Given the description of an element on the screen output the (x, y) to click on. 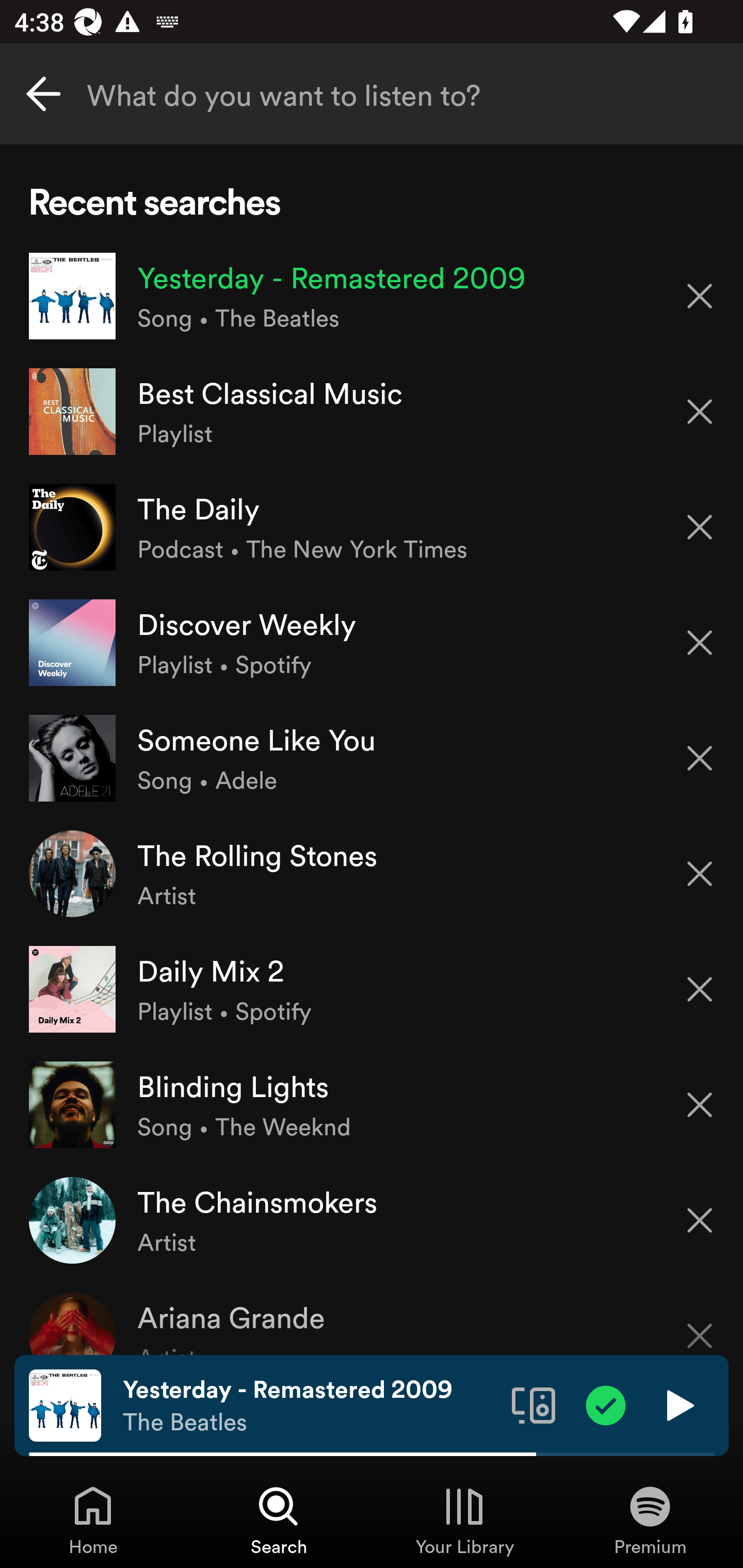
What do you want to listen to? (371, 93)
Cancel (43, 93)
Remove (699, 295)
Best Classical Music Playlist Remove (371, 411)
Remove (699, 411)
The Daily Podcast • The New York Times Remove (371, 526)
Remove (699, 527)
Discover Weekly Playlist • Spotify Remove (371, 642)
Remove (699, 642)
Someone Like You Song • Adele Remove (371, 757)
Remove (699, 758)
The Rolling Stones Artist Remove (371, 873)
Remove (699, 874)
Daily Mix 2 Playlist • Spotify Remove (371, 989)
Remove (699, 989)
Blinding Lights Song • The Weeknd Remove (371, 1104)
Remove (699, 1104)
The Chainsmokers Artist Remove (371, 1219)
Remove (699, 1220)
Ariana Grande Artist Remove (371, 1315)
Remove (699, 1323)
Yesterday - Remastered 2009 The Beatles (309, 1405)
The cover art of the currently playing track (64, 1404)
Connect to a device. Opens the devices menu (533, 1404)
Item added (605, 1404)
Play (677, 1404)
Home, Tab 1 of 4 Home Home (92, 1519)
Search, Tab 2 of 4 Search Search (278, 1519)
Your Library, Tab 3 of 4 Your Library Your Library (464, 1519)
Premium, Tab 4 of 4 Premium Premium (650, 1519)
